Given the description of an element on the screen output the (x, y) to click on. 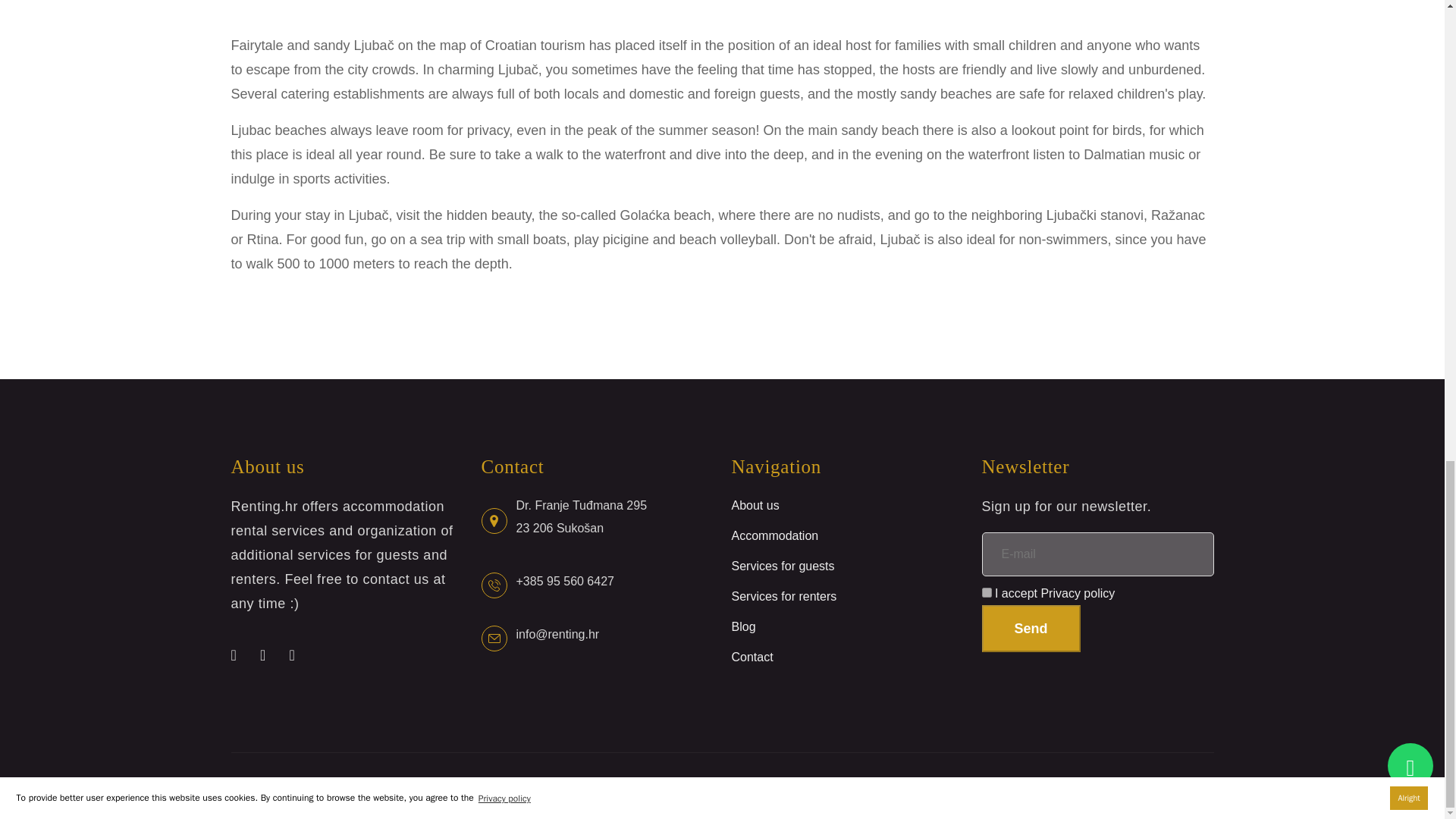
on (986, 592)
